Given the description of an element on the screen output the (x, y) to click on. 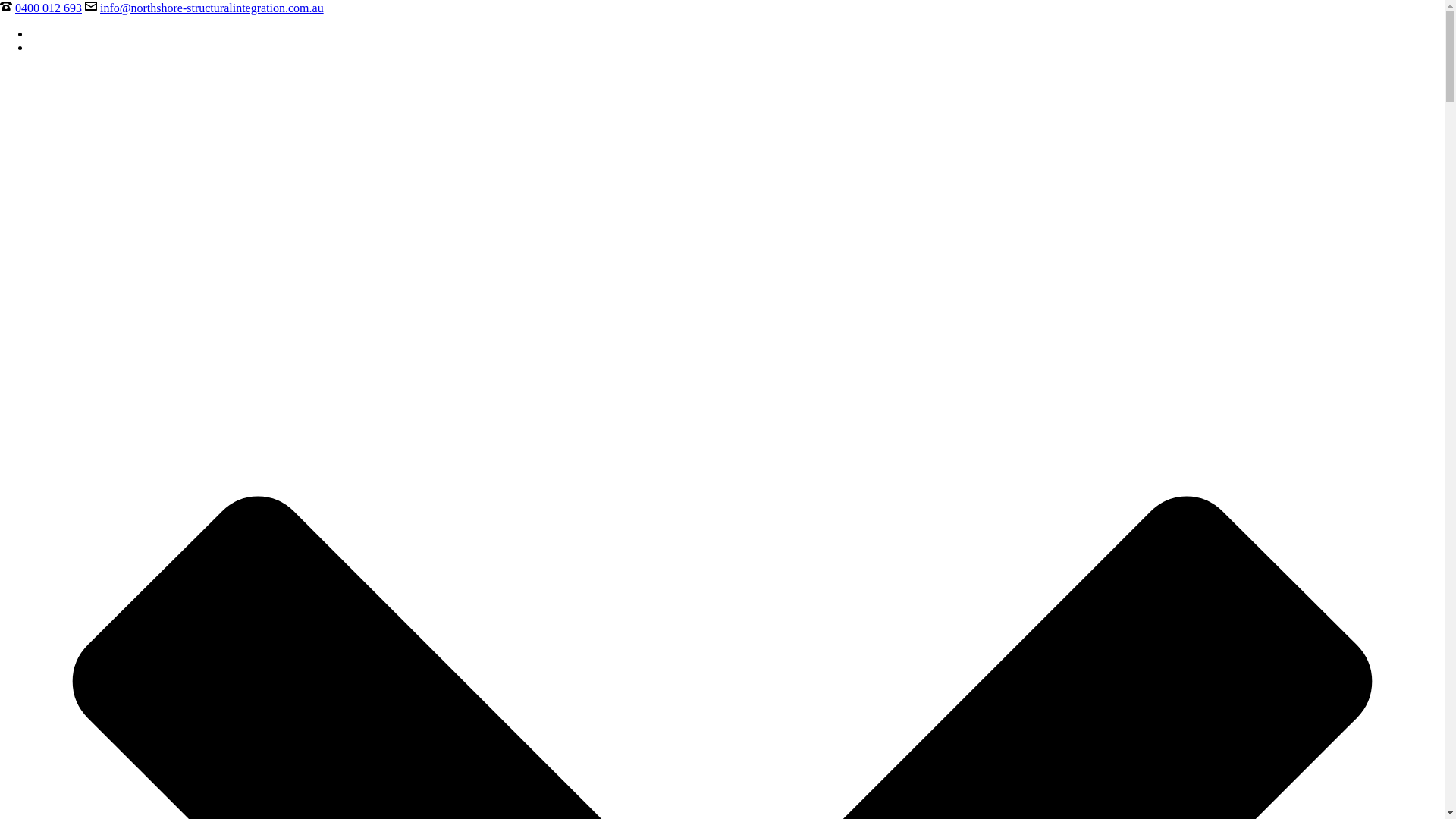
info@northshore-structuralintegration.com.au Element type: text (211, 7)
0400 012 693 Element type: text (48, 7)
